Given the description of an element on the screen output the (x, y) to click on. 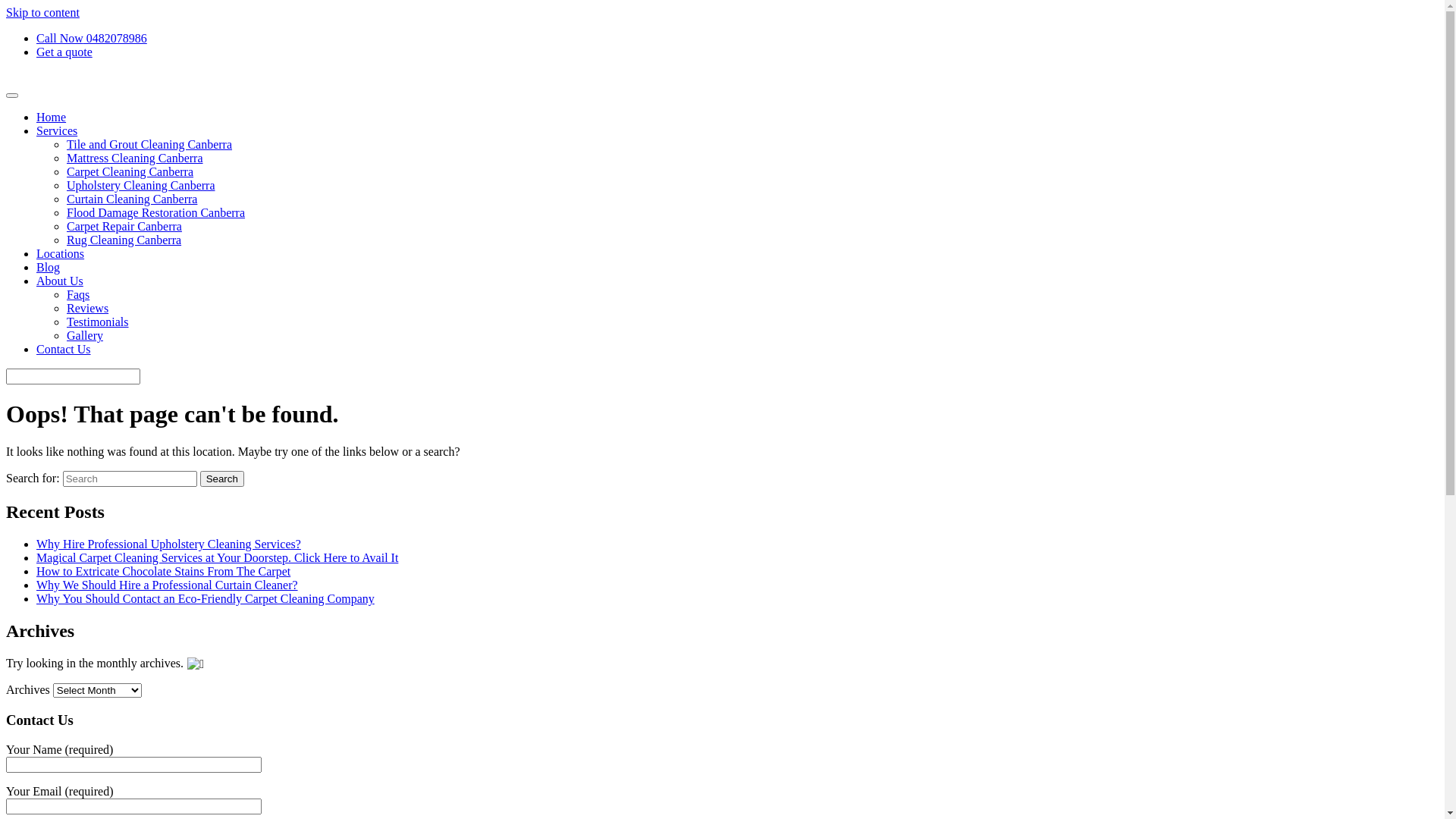
Curtain Cleaning Canberra Element type: text (131, 198)
Testimonials Element type: text (97, 321)
Upholstery Cleaning Canberra Element type: text (140, 184)
Mattress Cleaning Canberra Element type: text (134, 157)
Call Now 0482078986 Element type: text (91, 37)
How to Extricate Chocolate Stains From The Carpet Element type: text (163, 570)
Why We Should Hire a Professional Curtain Cleaner? Element type: text (167, 584)
Locations Element type: text (60, 253)
Tile and Grout Cleaning Canberra Element type: text (149, 144)
Services Element type: text (56, 130)
Carpet Repair Canberra Element type: text (124, 225)
Home Element type: text (50, 116)
Why Hire Professional Upholstery Cleaning Services? Element type: text (168, 543)
Get a quote Element type: text (64, 51)
Rug Cleaning Canberra Element type: text (123, 239)
About Us Element type: text (59, 280)
Blog Element type: text (47, 266)
Skip to content Element type: text (42, 12)
Contact Us Element type: text (63, 348)
Flood Damage Restoration Canberra Element type: text (155, 212)
Search for: Element type: hover (129, 478)
Carpet Cleaning Canberra Element type: text (129, 171)
Faqs Element type: text (77, 294)
Reviews Element type: text (87, 307)
Search Element type: text (222, 478)
Gallery Element type: text (84, 335)
